Given the description of an element on the screen output the (x, y) to click on. 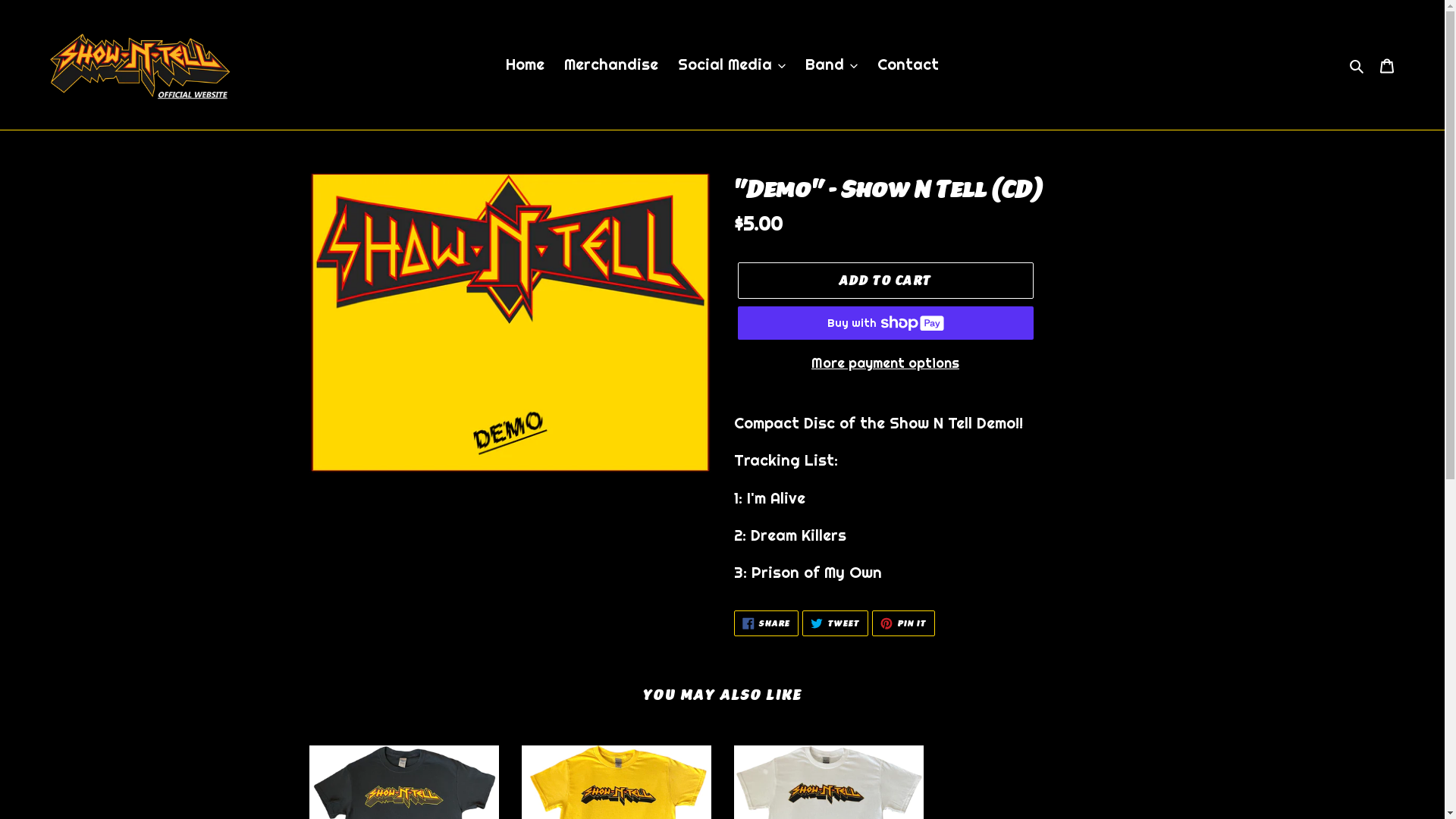
PIN IT
PIN ON PINTEREST Element type: text (903, 623)
More payment options Element type: text (884, 362)
Search Element type: text (1357, 64)
Merchandise Element type: text (610, 64)
Cart Element type: text (1386, 64)
Contact Element type: text (907, 64)
Band Element type: text (831, 64)
Home Element type: text (525, 64)
Social Media Element type: text (731, 64)
SHARE
SHARE ON FACEBOOK Element type: text (766, 623)
ADD TO CART Element type: text (884, 280)
TWEET
TWEET ON TWITTER Element type: text (835, 623)
